Given the description of an element on the screen output the (x, y) to click on. 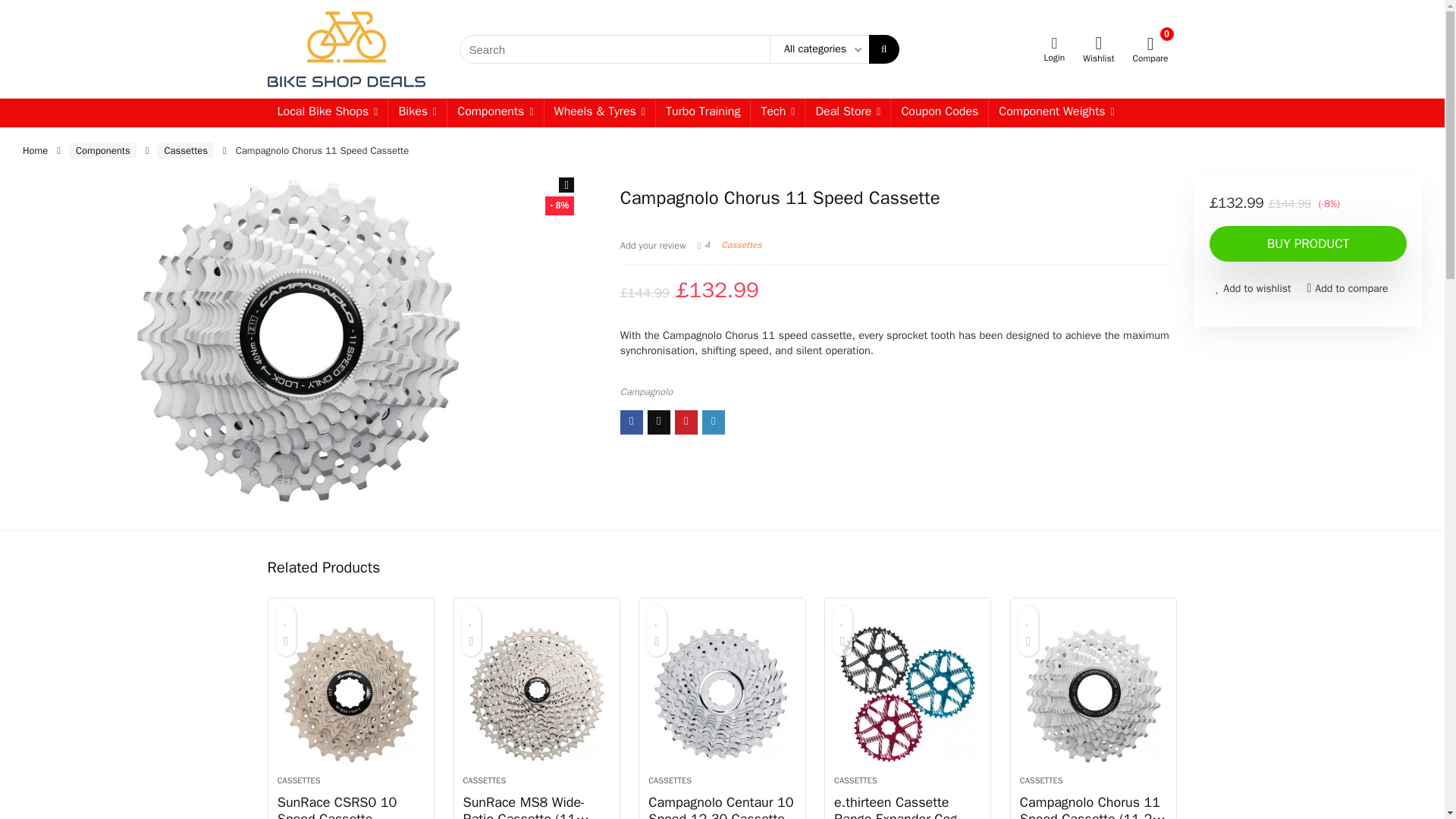
View all posts in Cassettes (740, 244)
Components (494, 112)
SunRace CSRS0 10 Speed Cassette (351, 694)
e.thirteen Cassette Range Expander Cog (907, 694)
Campagnolo Chorus 11 Speed Cassette (298, 340)
Bikes (417, 112)
Deal Store (847, 112)
Campagnolo Centaur 10 Speed 12-30 Cassette (720, 694)
Tech (778, 112)
Turbo Training (702, 112)
